Given the description of an element on the screen output the (x, y) to click on. 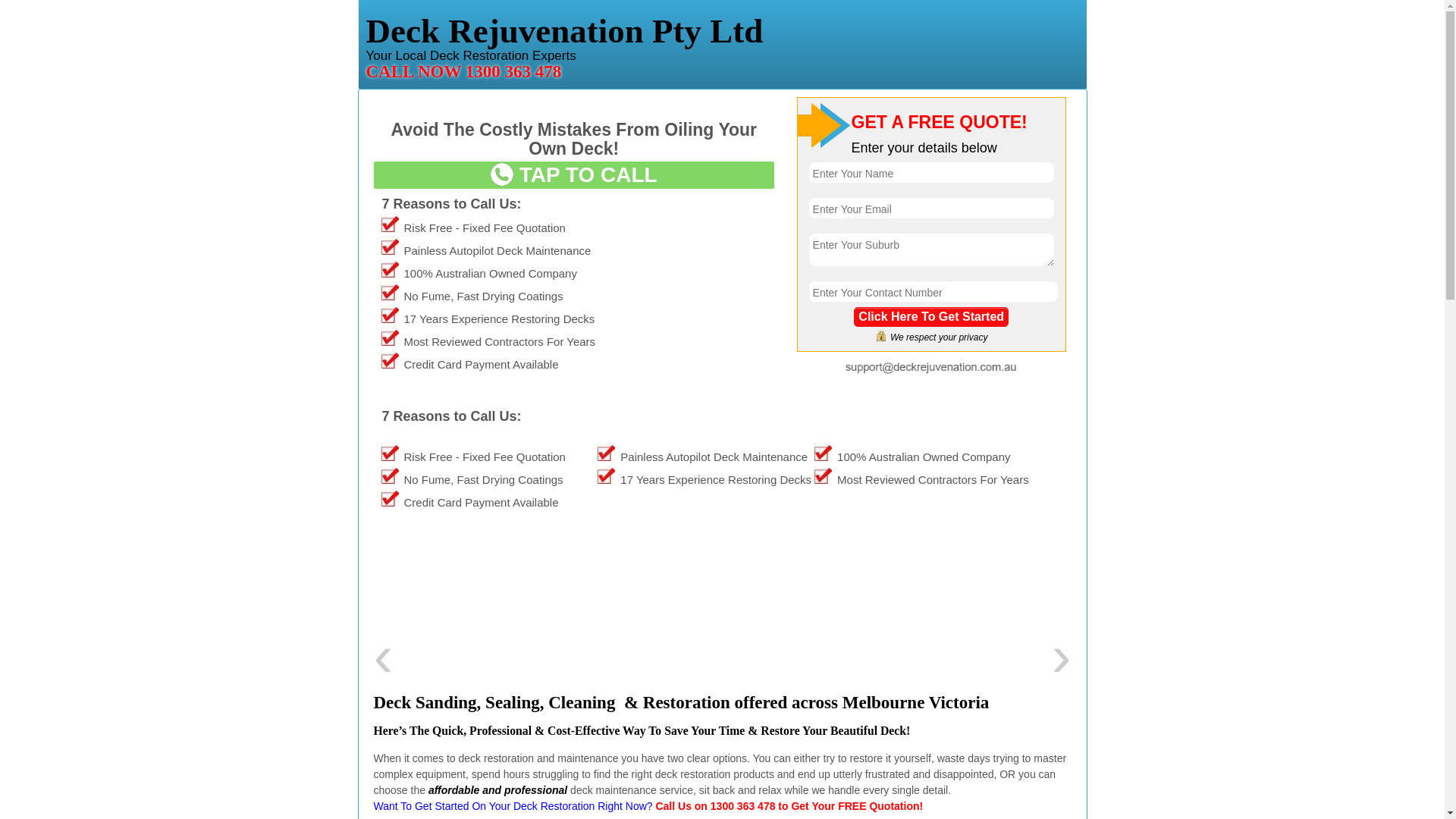
TAP TO CALL Element type: text (573, 174)
Click Here To Get Started Element type: text (930, 316)
CALL NOW 1300 363 478 Element type: text (463, 71)
TAP TO CALL Element type: text (573, 178)
Deck Rejuvenation Pty Ltd Element type: text (722, 38)
We respect your privacy Element type: text (931, 335)
